Given the description of an element on the screen output the (x, y) to click on. 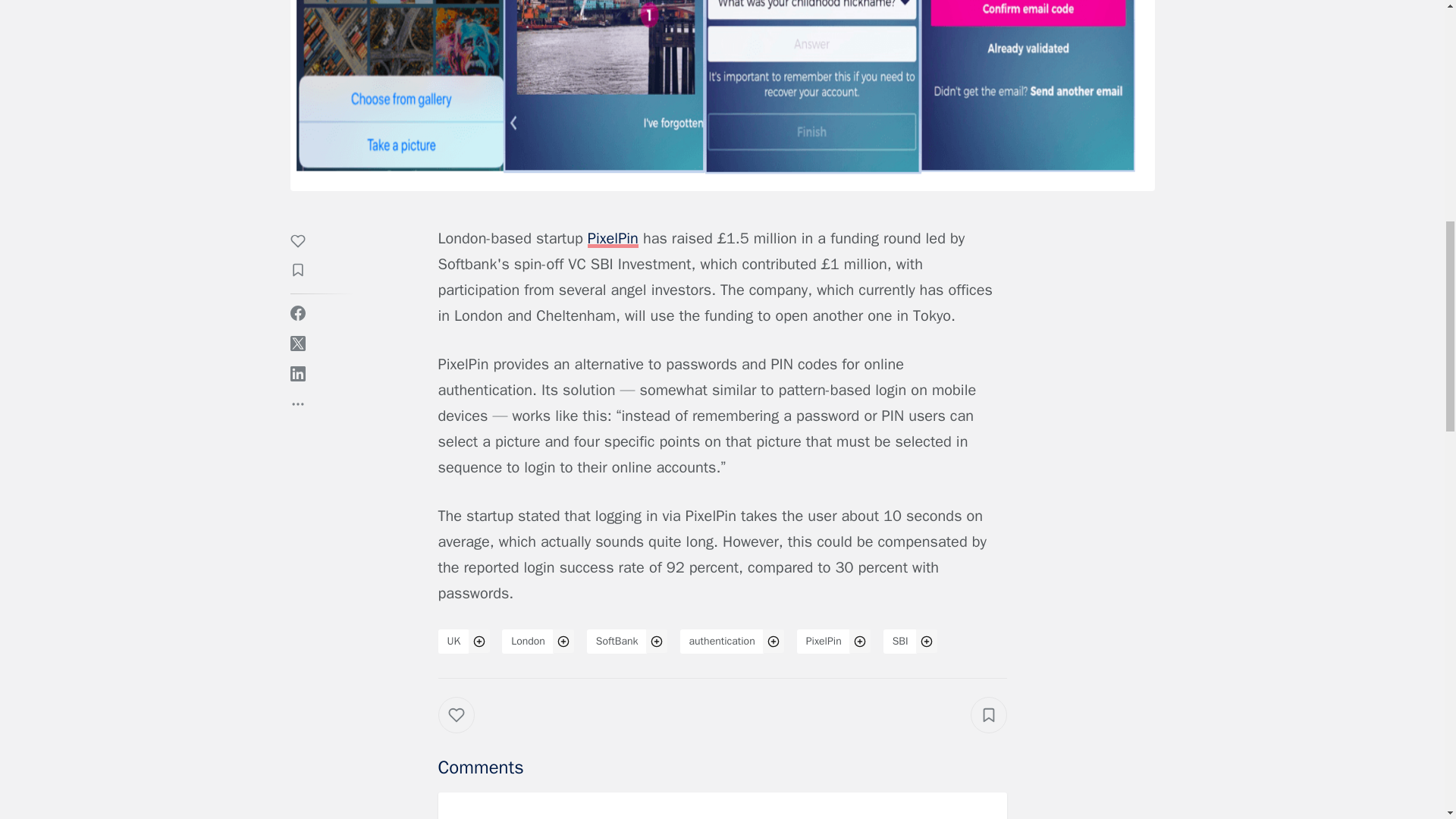
authentication (721, 641)
Share on Facebook (296, 313)
UK (454, 641)
Add to collection (304, 271)
Share on Linkedin (296, 373)
Add to collection (989, 714)
Like (304, 243)
Share on Twitter (296, 343)
SoftBank (616, 641)
London (528, 641)
